Given the description of an element on the screen output the (x, y) to click on. 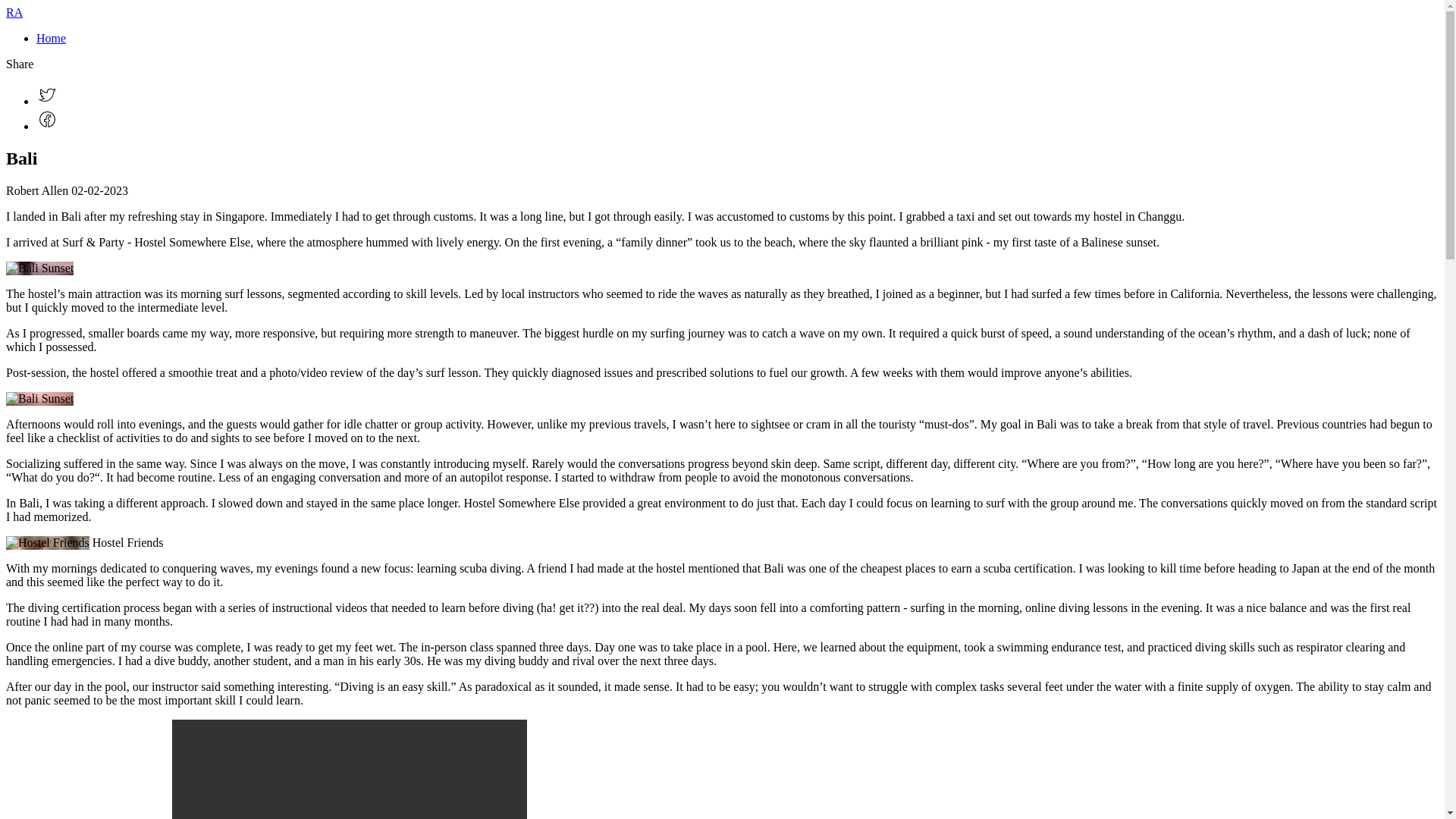
RA (14, 11)
Home (50, 38)
